Given the description of an element on the screen output the (x, y) to click on. 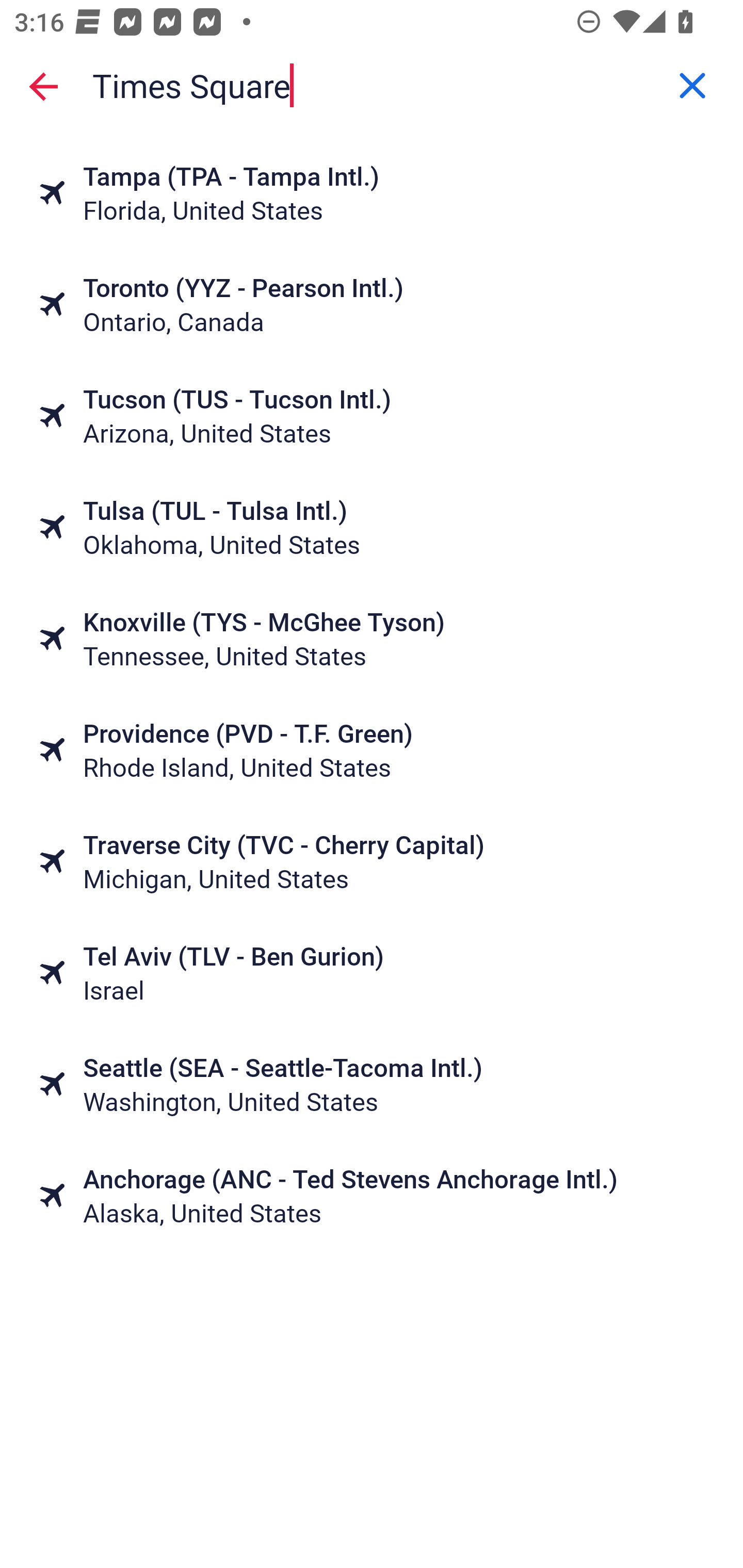
Clear Pick-up (692, 85)
Pick-up, Times Square (371, 85)
Close search screen (43, 86)
